Given the description of an element on the screen output the (x, y) to click on. 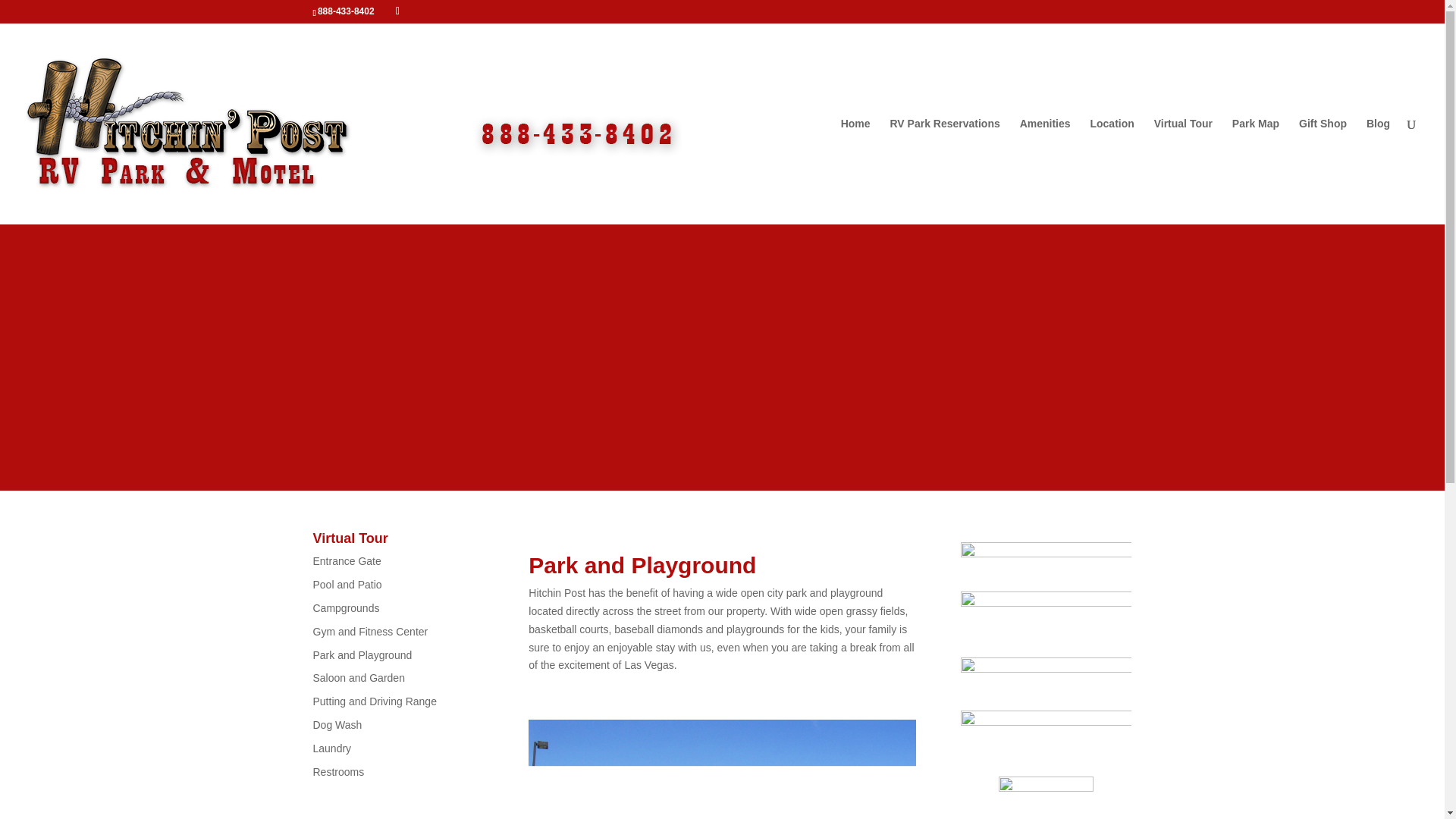
Restrooms (338, 771)
Pool and Patio (347, 584)
Laundry (331, 748)
Park and Playground (362, 654)
Saloon and Garden (358, 677)
Entrance Gate (346, 561)
RV Park Reservations (943, 170)
Dog Wash (337, 725)
Gym and Fitness Center (370, 631)
Campgrounds (345, 607)
Putting and Driving Range (374, 701)
